Given the description of an element on the screen output the (x, y) to click on. 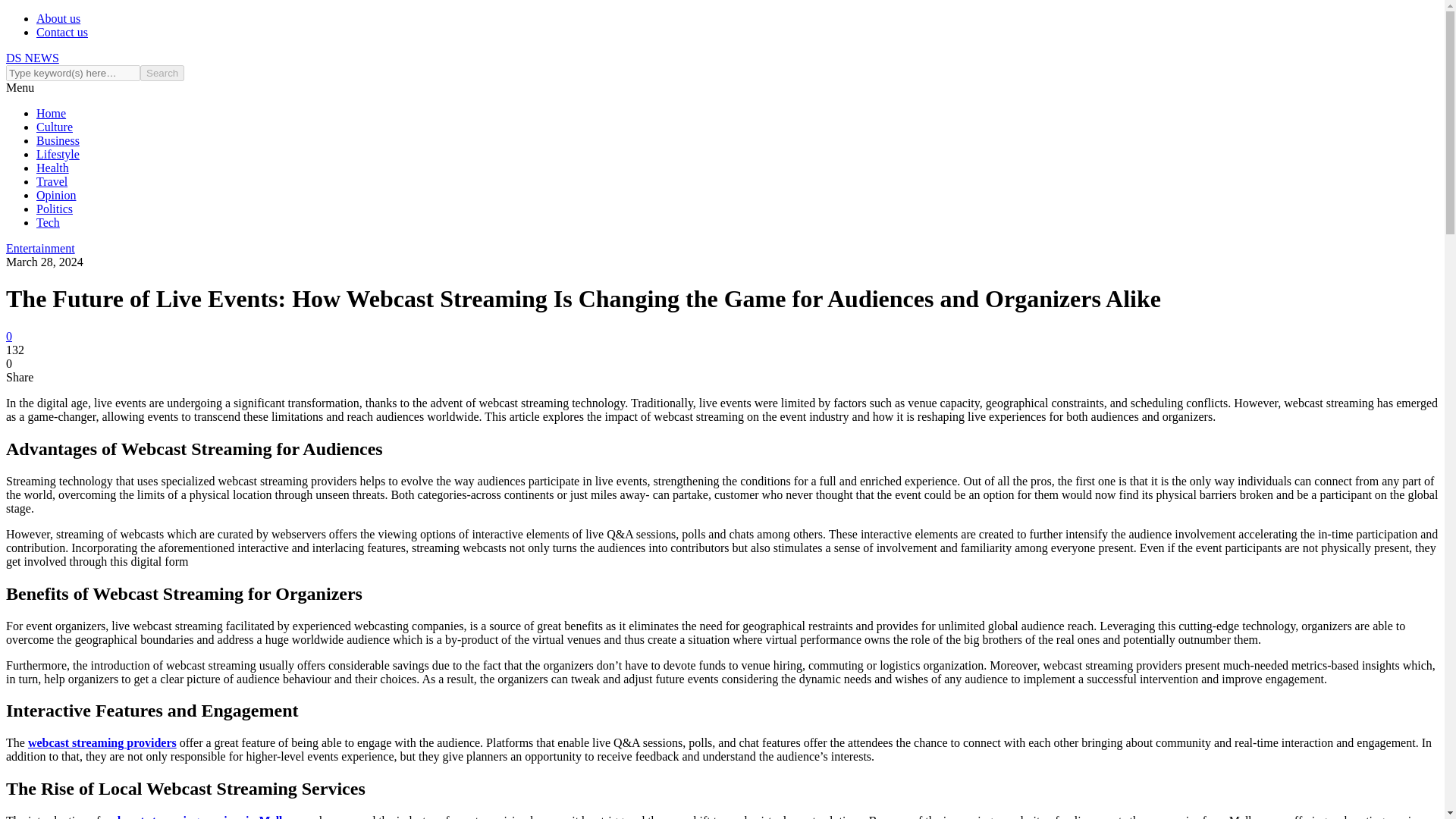
DS NEWS (32, 57)
webcast streaming services in Melbourne (209, 816)
Contact us (61, 31)
Lifestyle (58, 154)
Culture (54, 126)
Health (52, 167)
Home (50, 113)
Entertainment (40, 247)
Politics (54, 208)
Search (161, 73)
